Given the description of an element on the screen output the (x, y) to click on. 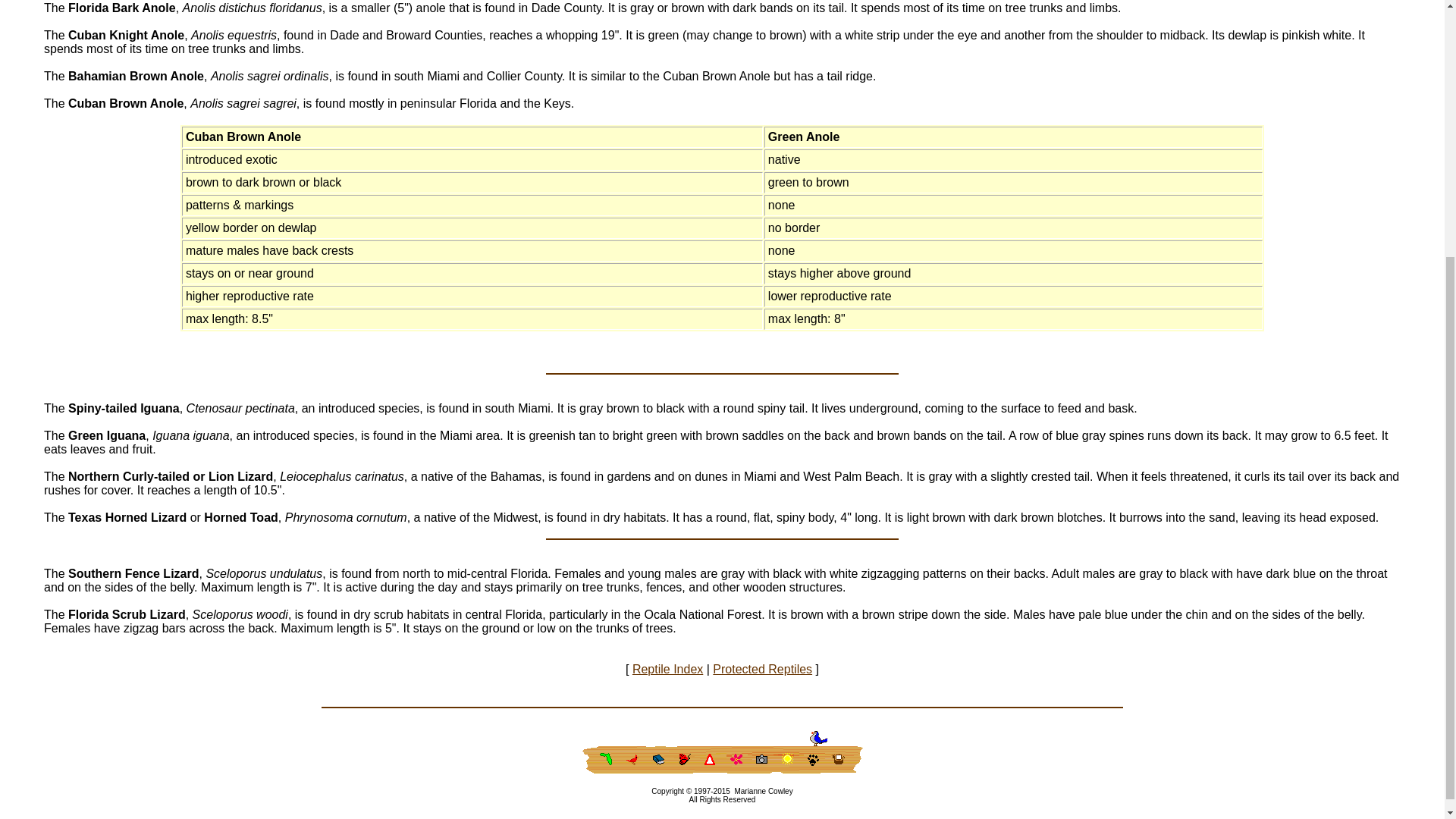
Book Menu (658, 759)
Photo Gallery (761, 759)
Your Florida Backyard (601, 759)
Bird Menu (633, 759)
NS Menu (845, 759)
Weather Menu (787, 759)
Wildlife Menu (816, 734)
Reptile Index (667, 668)
Protected Reptiles (762, 668)
Disasters Menu (710, 759)
